Given the description of an element on the screen output the (x, y) to click on. 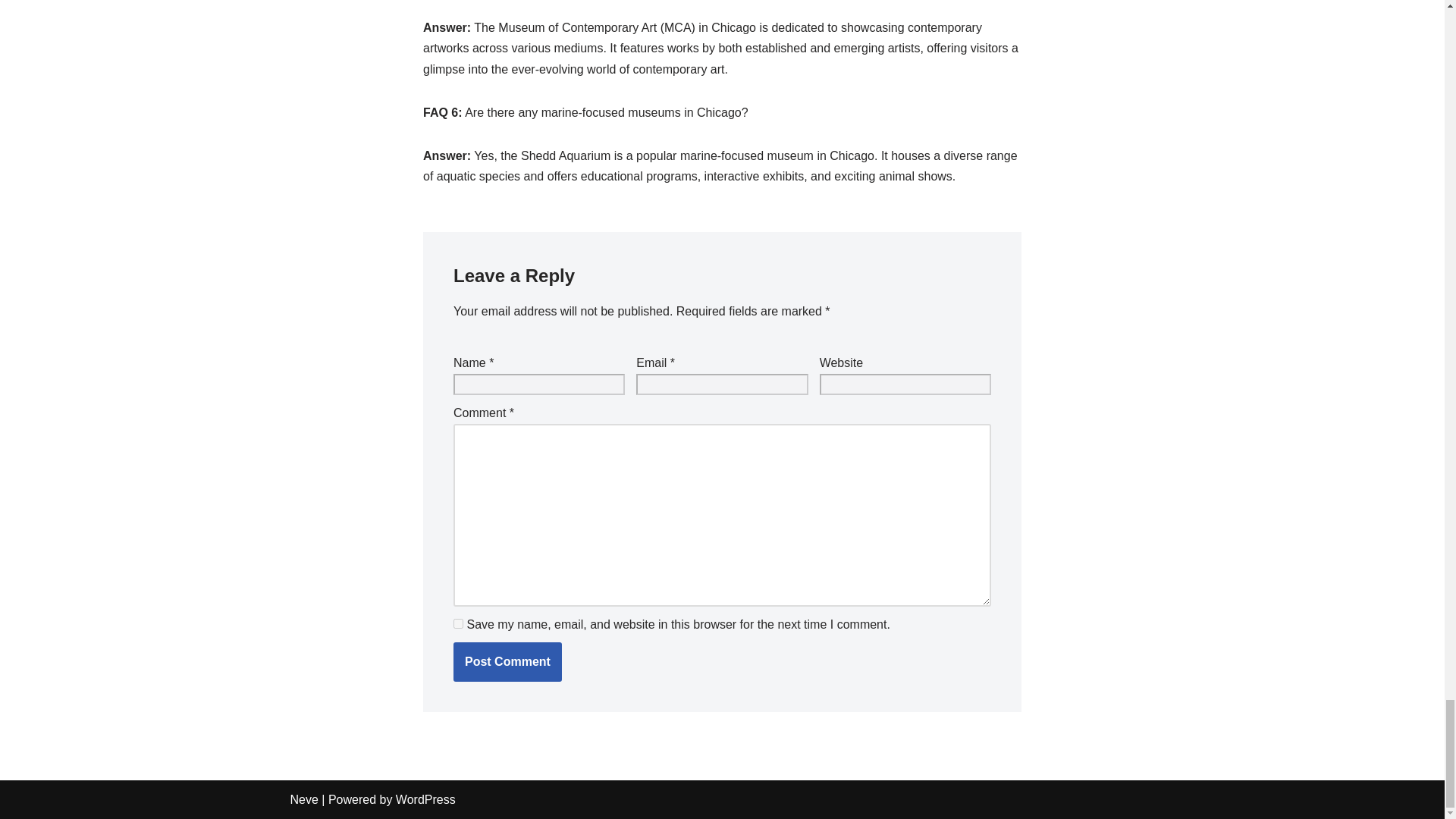
WordPress (425, 799)
Post Comment (507, 661)
yes (457, 623)
Post Comment (507, 661)
Neve (303, 799)
